Given the description of an element on the screen output the (x, y) to click on. 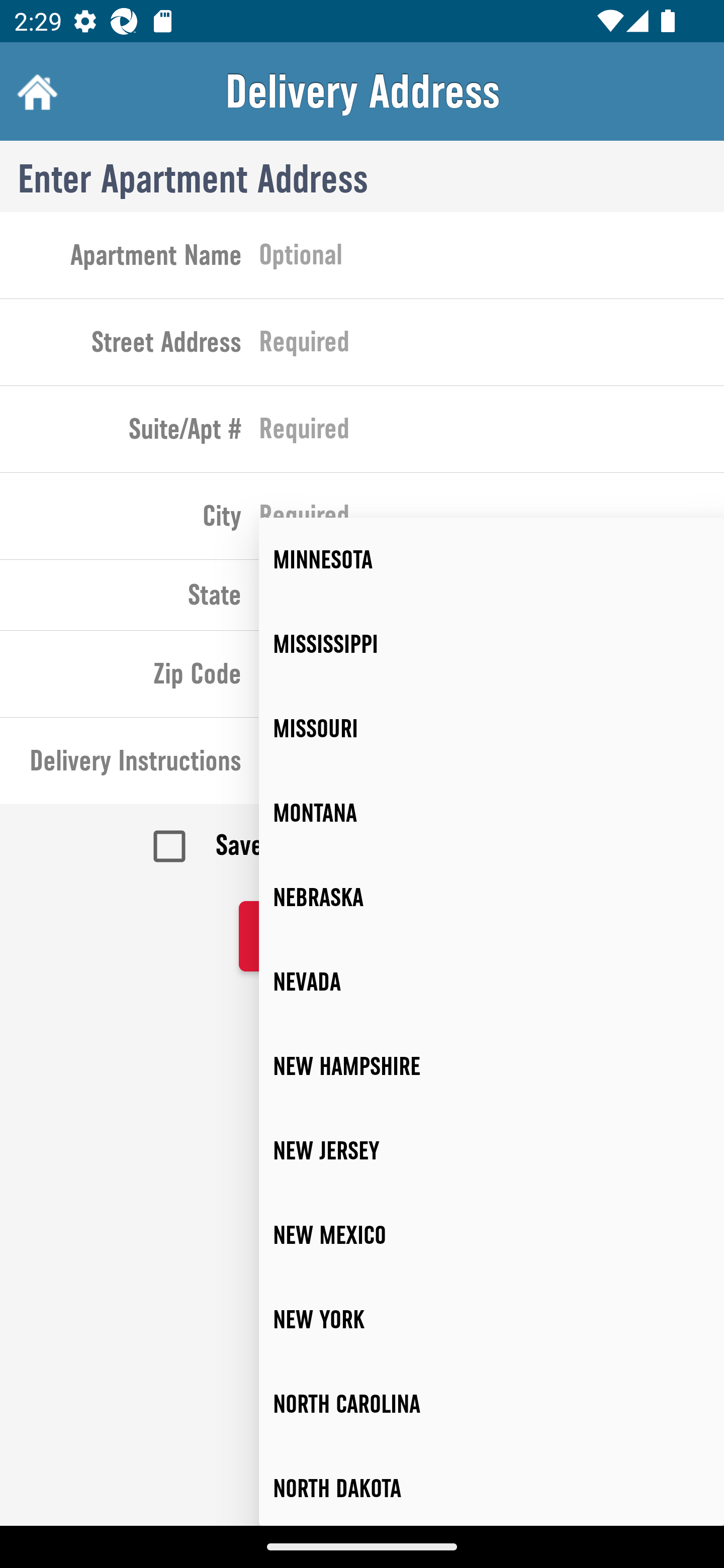
MINNESOTA (491, 559)
MISSISSIPPI (491, 644)
MISSOURI (491, 728)
MONTANA (491, 813)
NEBRASKA (491, 897)
NEVADA (491, 981)
NEW HAMPSHIRE (491, 1065)
NEW JERSEY (491, 1150)
NEW MEXICO (491, 1235)
NEW YORK (491, 1319)
NORTH CAROLINA (491, 1403)
NORTH DAKOTA (491, 1485)
